Given the description of an element on the screen output the (x, y) to click on. 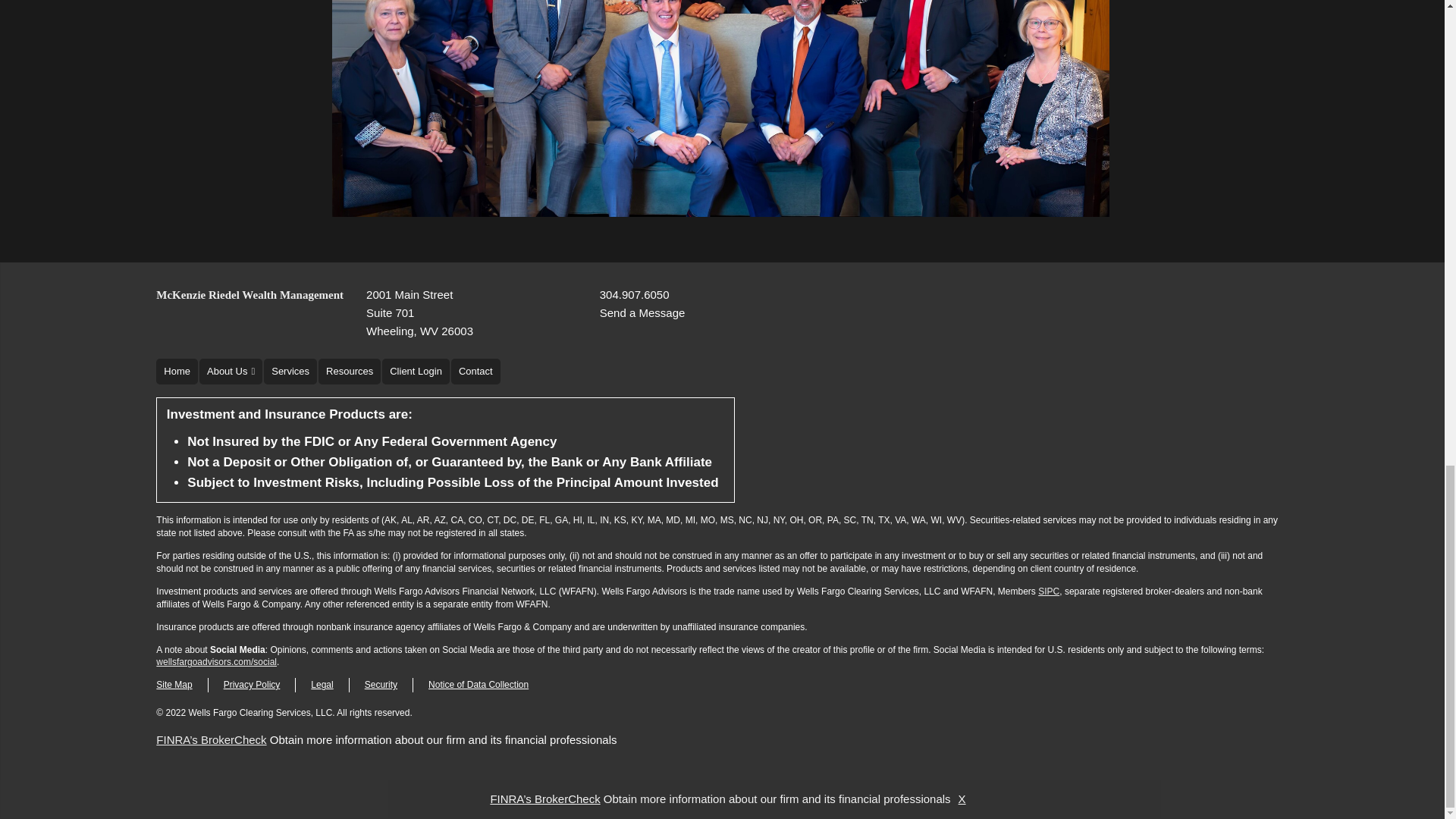
Site Map (173, 685)
Contact (475, 371)
Services (290, 371)
Notice of Data Collection (478, 685)
Client Login (415, 371)
McKenzie Riedel Wealth Management (249, 294)
Legal (322, 685)
SIPC (1048, 591)
About Us (230, 371)
Send a Message (642, 312)
304.907.6050 (634, 294)
Resources (349, 371)
Security (419, 312)
Home (381, 685)
